Given the description of an element on the screen output the (x, y) to click on. 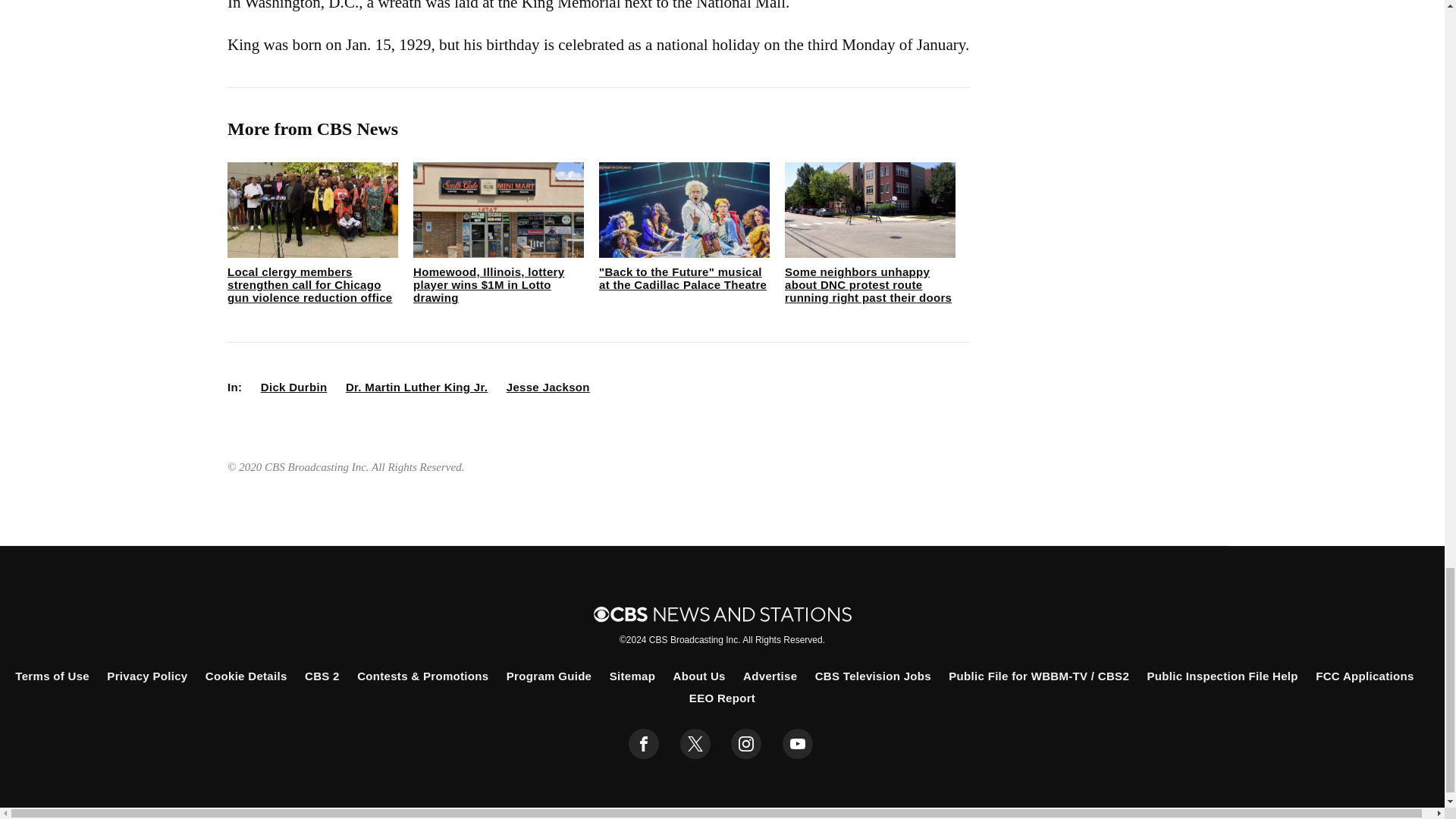
youtube (797, 743)
facebook (643, 743)
instagram (745, 743)
twitter (694, 743)
